Given the description of an element on the screen output the (x, y) to click on. 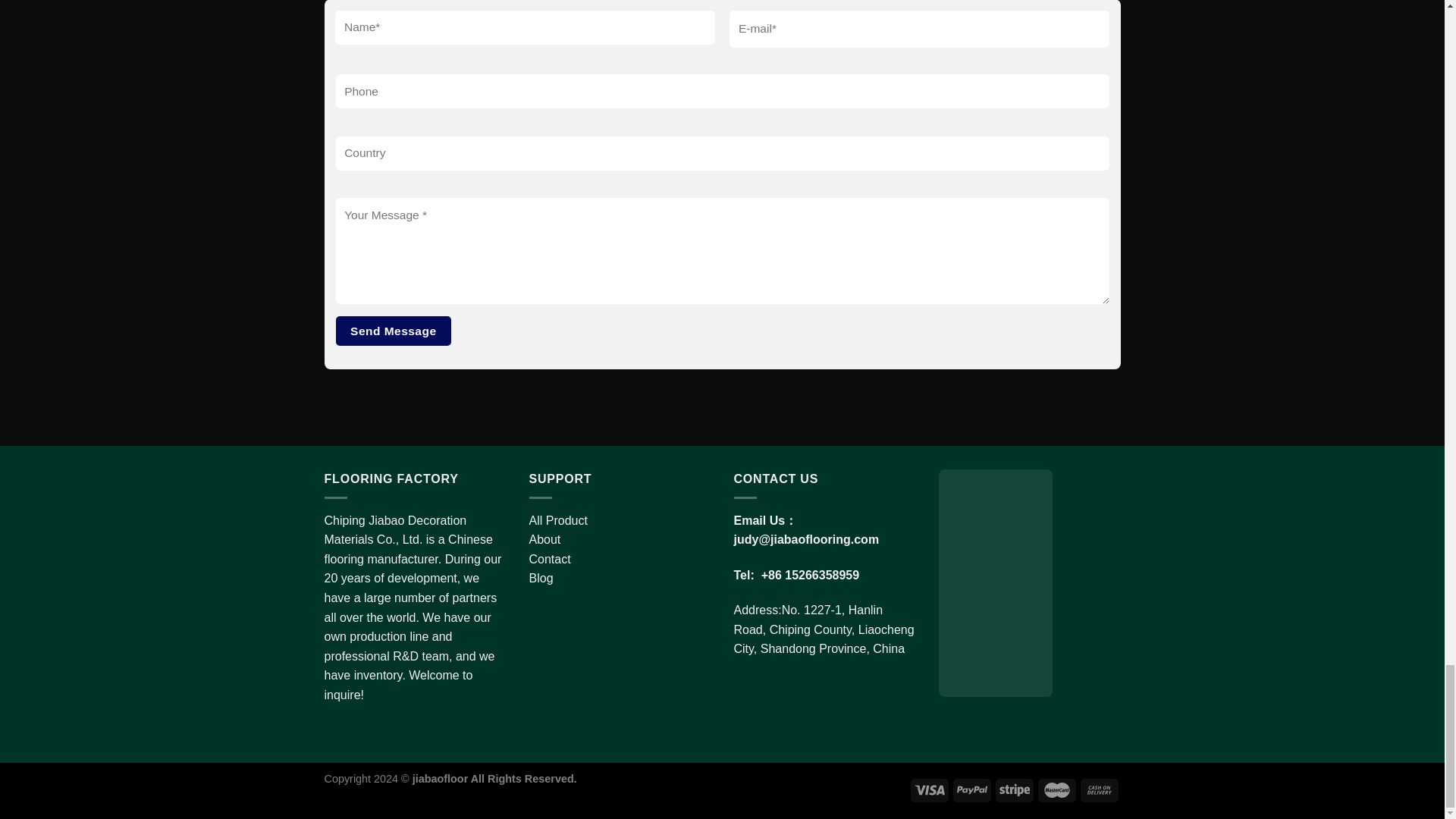
Send Message (392, 330)
